Given the description of an element on the screen output the (x, y) to click on. 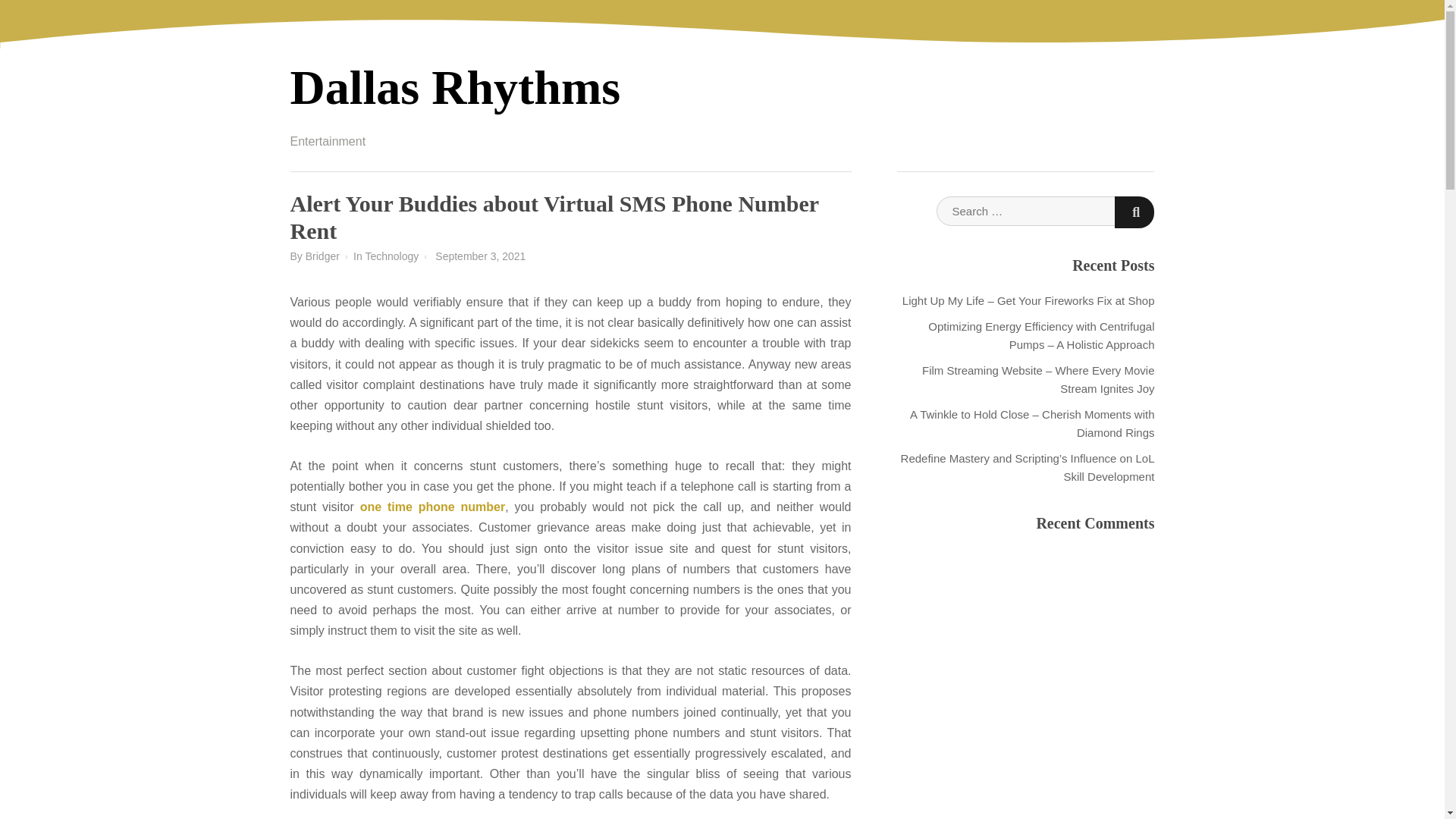
Bridger (322, 256)
Entertainment (328, 141)
September 3, 2021 (480, 256)
Dallas Rhythms (454, 87)
Technology (392, 256)
one time phone number (432, 506)
SEARCH (1134, 212)
